Given the description of an element on the screen output the (x, y) to click on. 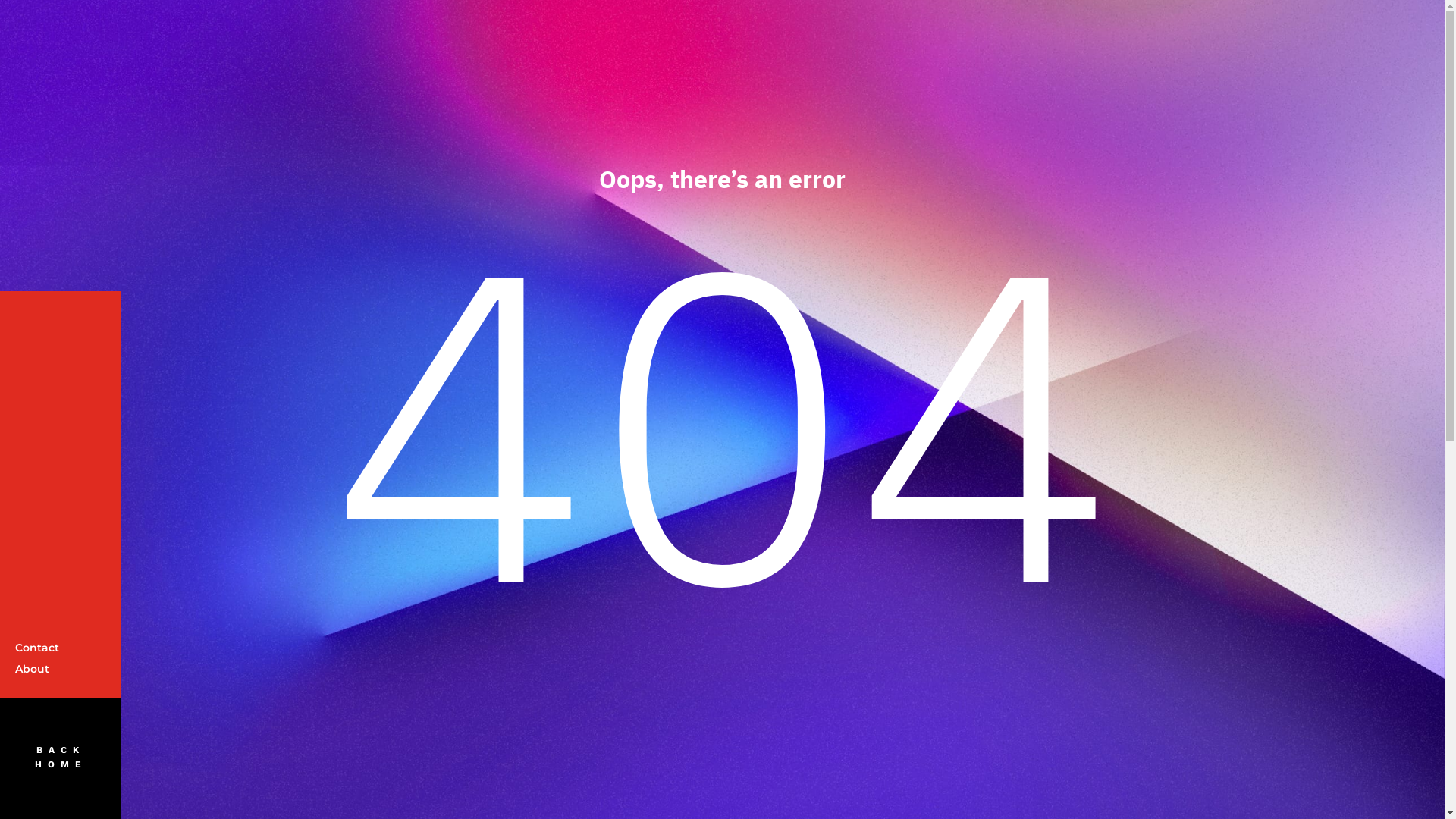
About Element type: text (32, 668)
Contact Element type: text (37, 647)
